Given the description of an element on the screen output the (x, y) to click on. 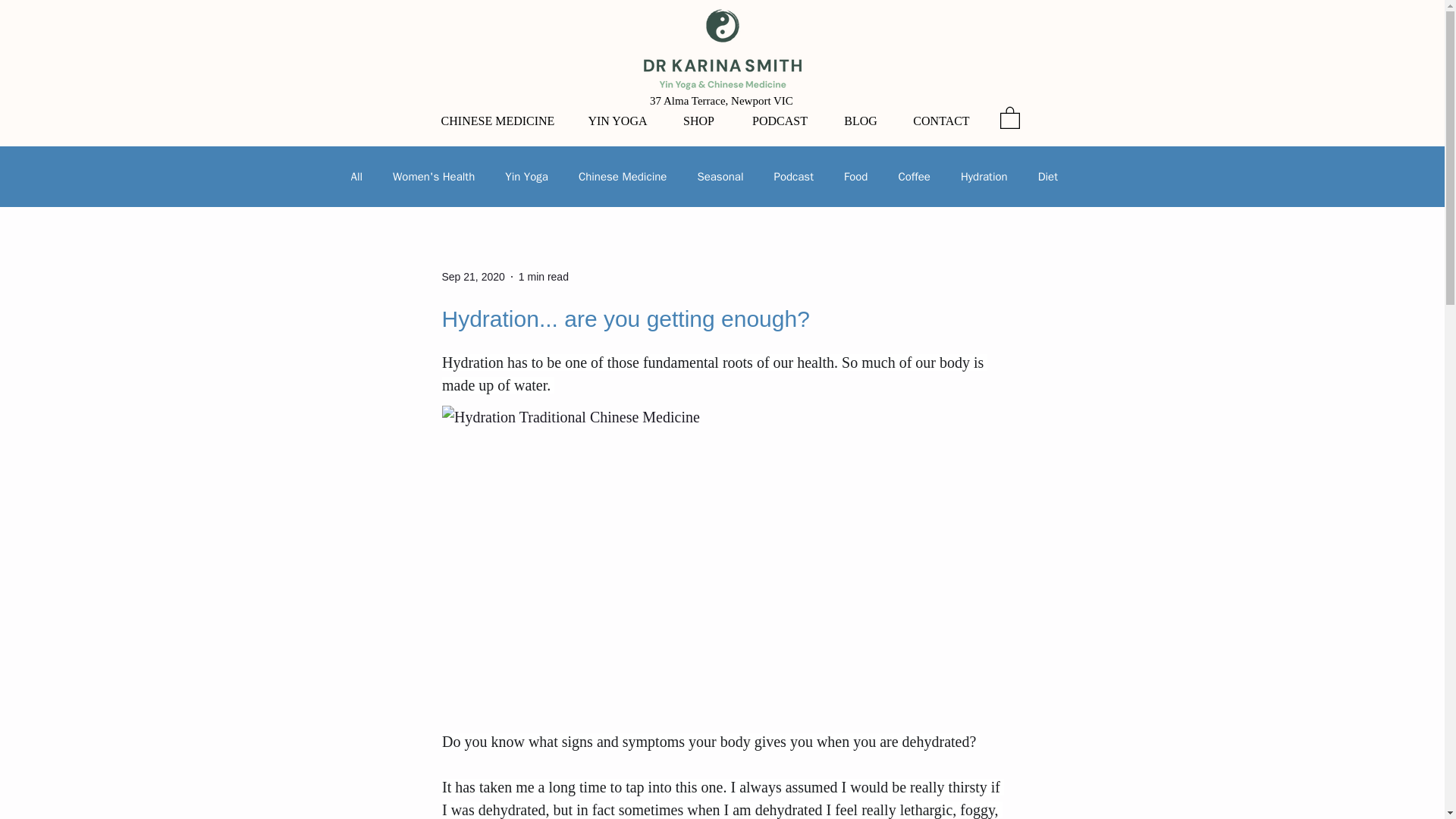
CONTACT (941, 120)
Food (855, 176)
Sep 21, 2020 (472, 275)
Yin Yoga (526, 176)
Chinese Medicine (622, 176)
Diet (1048, 176)
PODCAST (778, 120)
Coffee (914, 176)
Seasonal (719, 176)
SHOP (698, 120)
